Given the description of an element on the screen output the (x, y) to click on. 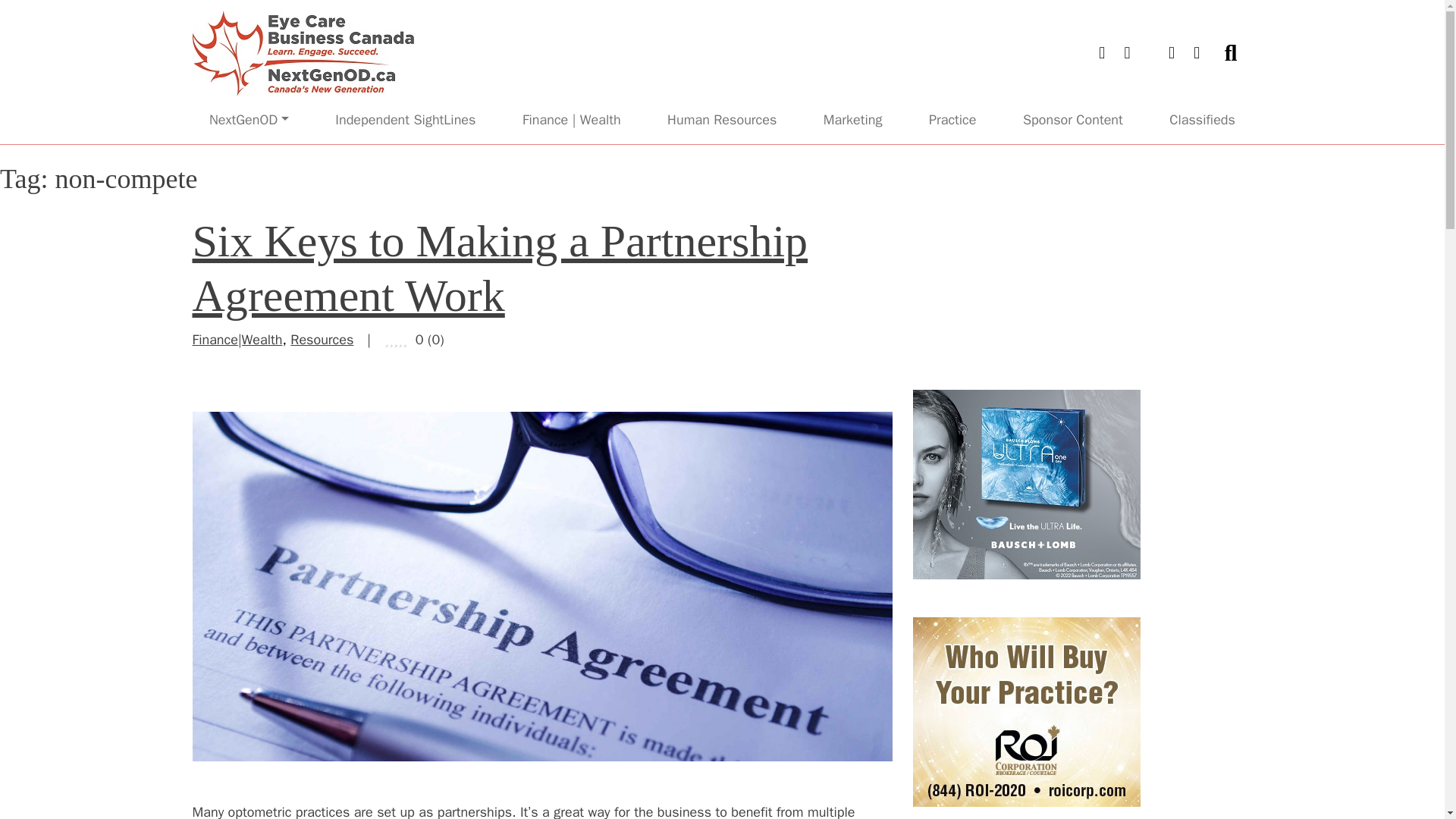
Marketing (852, 120)
Independent SightLines (405, 120)
Practice (952, 120)
NextGenOD (248, 120)
Sponsor Content (1072, 120)
Classifieds (1201, 120)
Human Resources (722, 120)
